Given the description of an element on the screen output the (x, y) to click on. 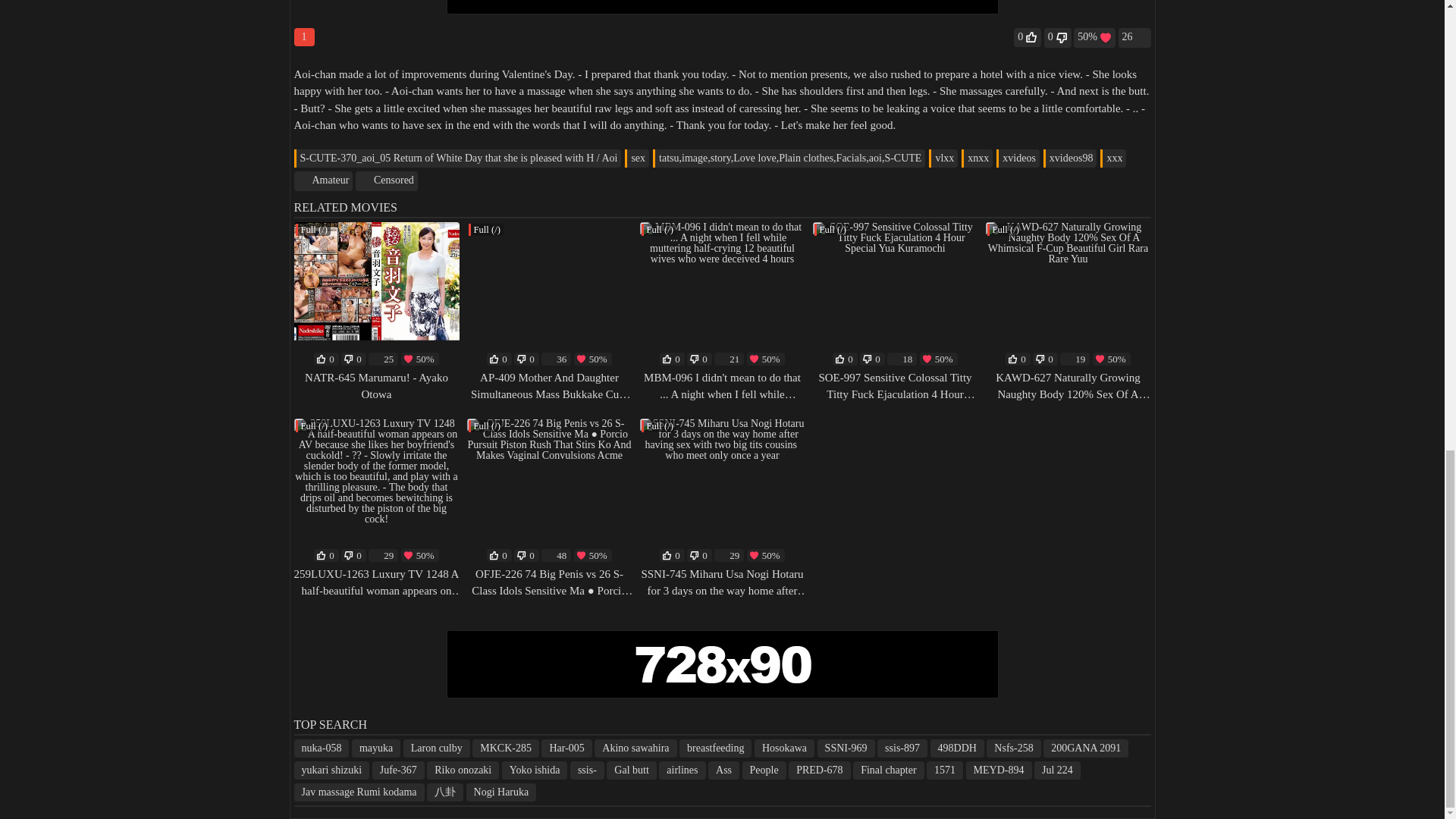
Amateur (323, 180)
xnxx (976, 158)
vlxx (943, 158)
xxx (1112, 158)
tatsu,image,story,Love love,Plain clothes,Facials,aoi,S-CUTE (788, 158)
NATR-645 Marumaru!  - Ayako Otowa (376, 295)
NATR-645 Marumaru! - Ayako Otowa (376, 386)
